Given the description of an element on the screen output the (x, y) to click on. 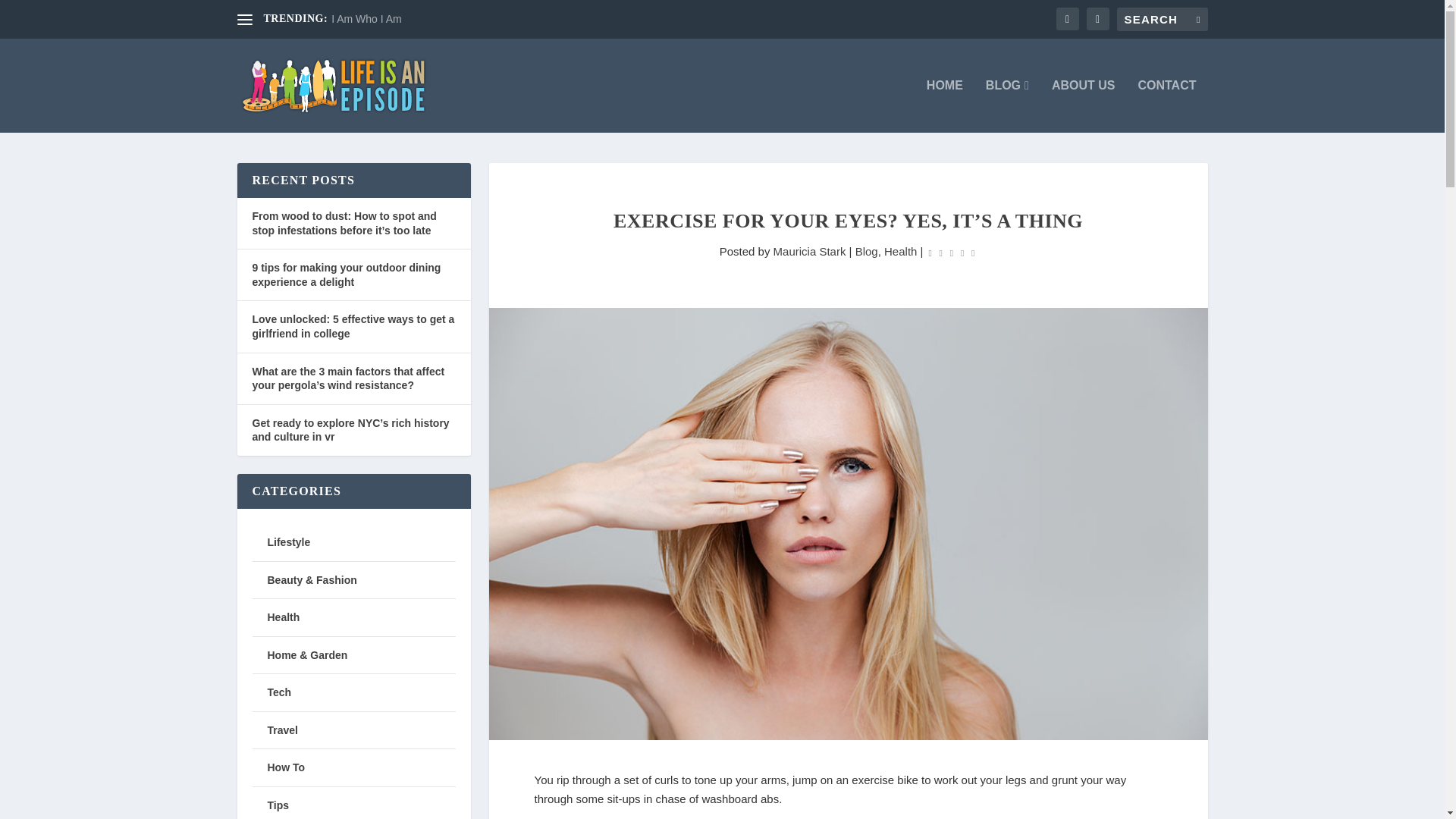
Blog (866, 250)
ABOUT US (1083, 105)
Posts by Mauricia Stark (809, 250)
Rating: 5.00 (951, 251)
Mauricia Stark (809, 250)
Health (900, 250)
I Am Who I Am (366, 19)
CONTACT (1166, 105)
Search for: (1161, 19)
